Given the description of an element on the screen output the (x, y) to click on. 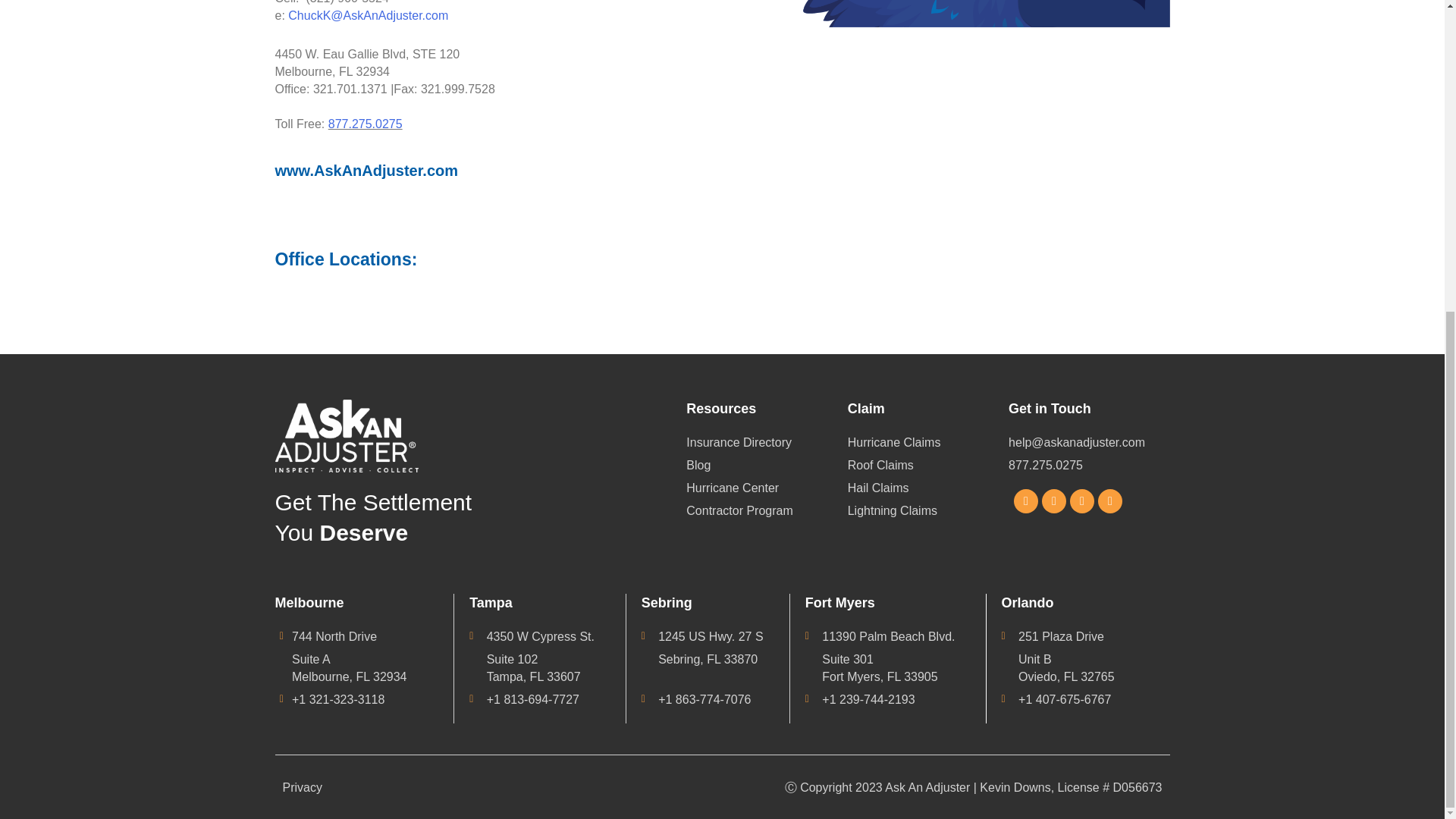
Hurricane Claims (928, 442)
Hail Claims (928, 487)
Lightning Claims (928, 510)
Contractor Program (766, 510)
Facebook (1025, 500)
877.275.0275 (366, 123)
Instagram (1053, 500)
Linkedin (1082, 500)
Roof Claims (928, 465)
Hurricane Center (766, 487)
Blog (766, 465)
www.AskAnAdjuster.com (490, 170)
Insurance Directory (766, 442)
Youtube (1109, 500)
877.275.0275 (1067, 465)
